Given the description of an element on the screen output the (x, y) to click on. 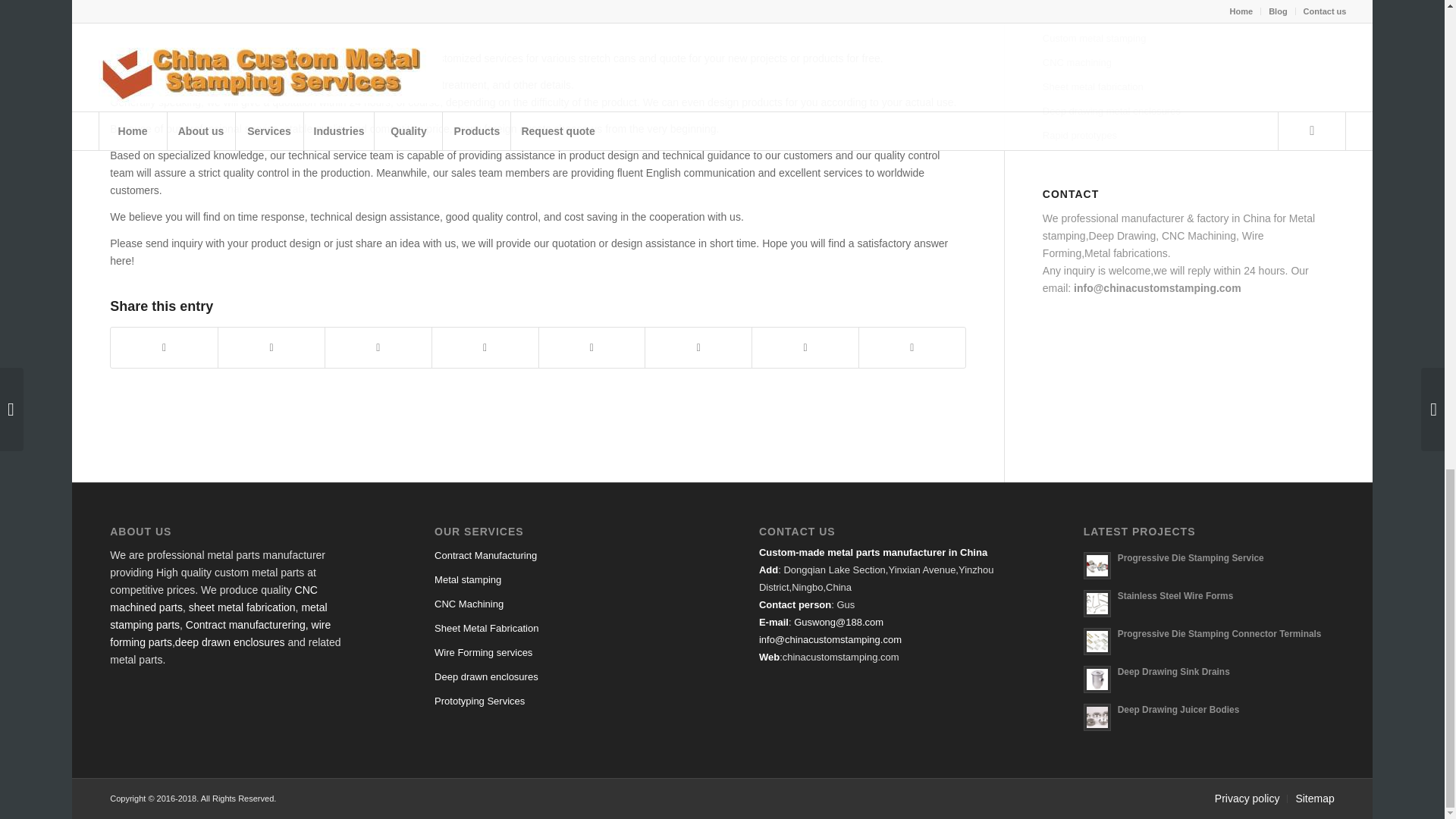
Read: Stainless Steel Wire Forms (1175, 595)
Read: Stainless Steel Wire Forms (1096, 603)
Read: Progressive Die Stamping Service (1096, 565)
Read: Progressive Die Stamping Service (1190, 557)
